Given the description of an element on the screen output the (x, y) to click on. 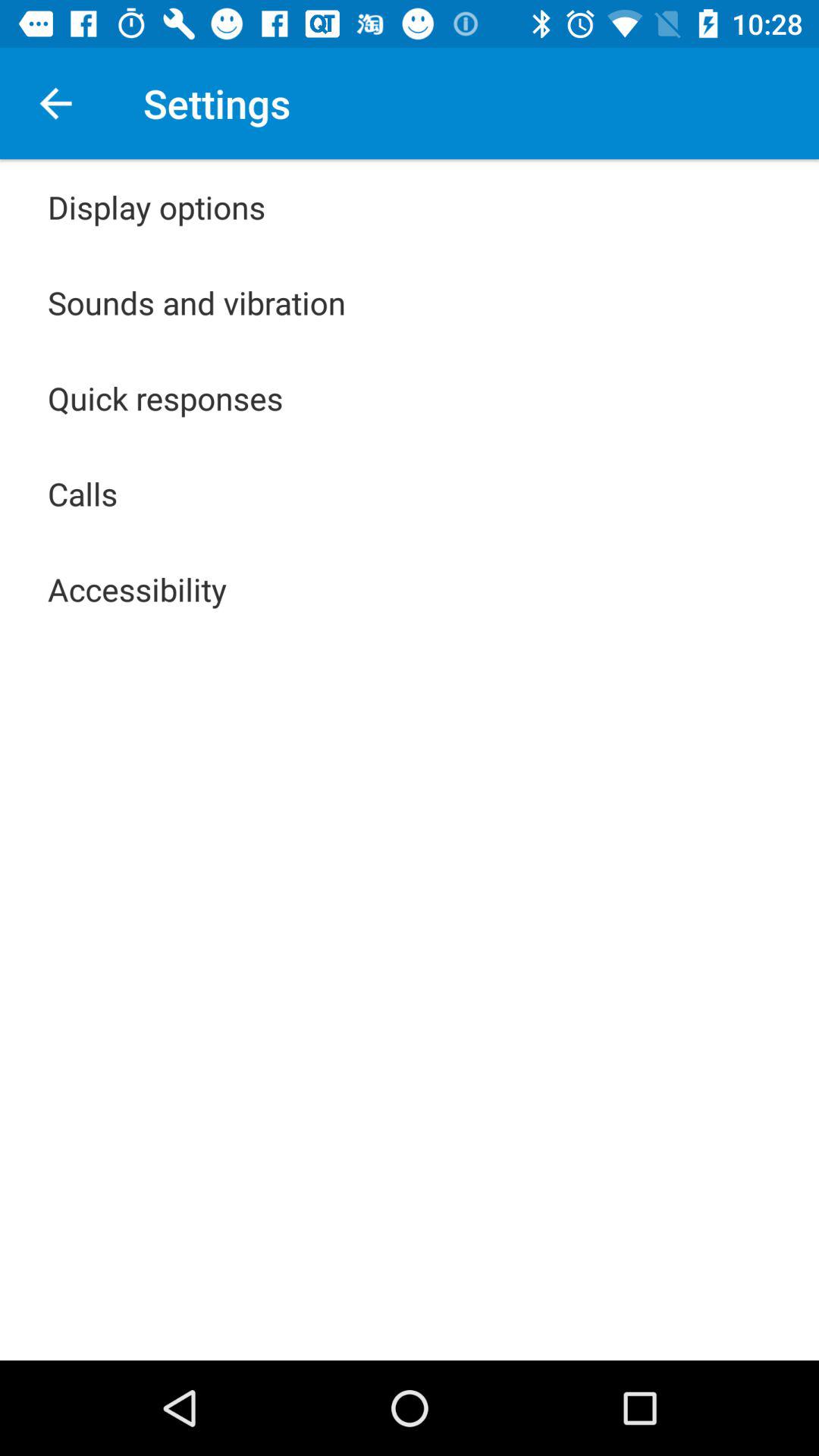
turn on item above accessibility item (82, 493)
